Given the description of an element on the screen output the (x, y) to click on. 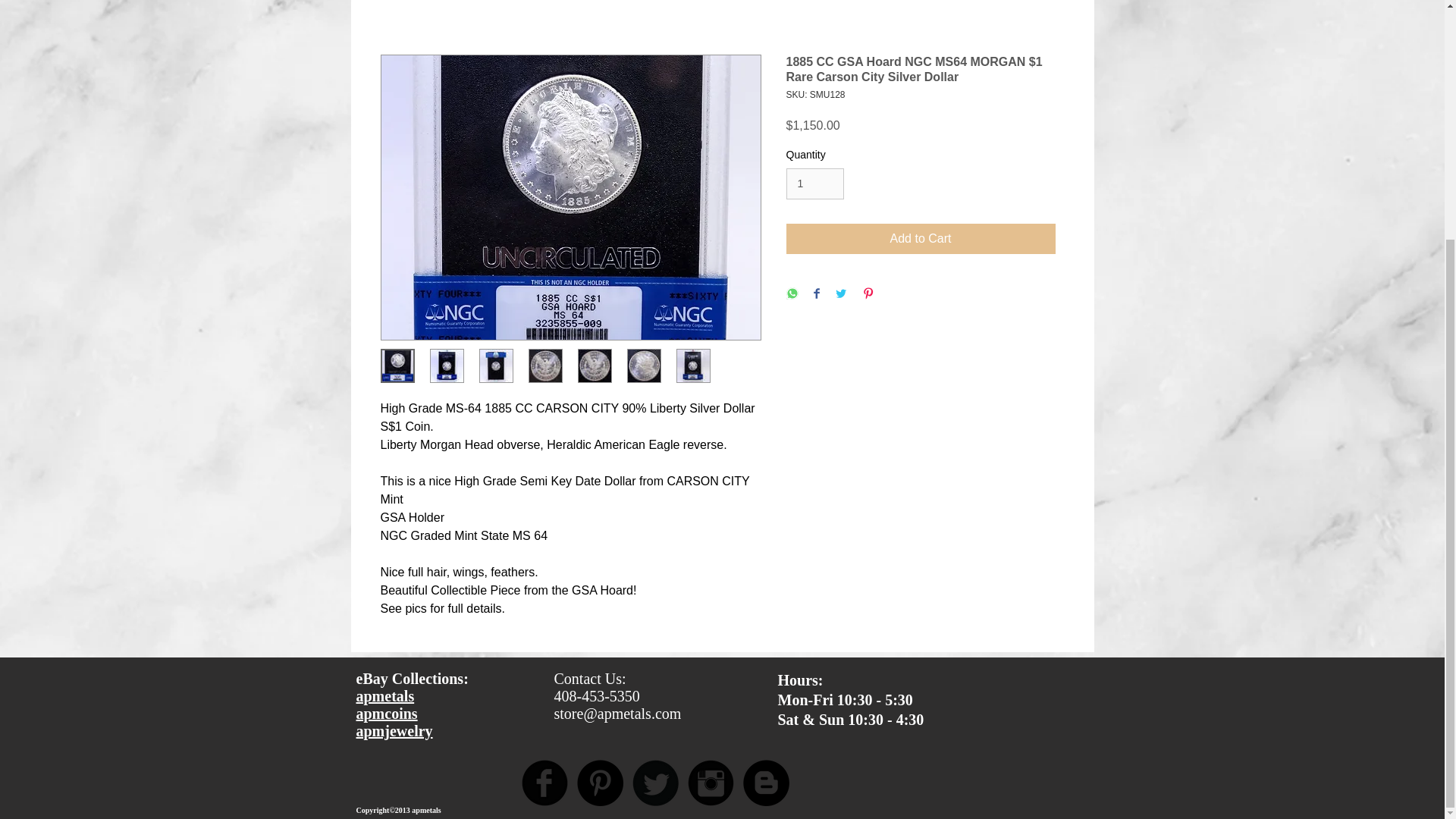
1 (814, 183)
